Given the description of an element on the screen output the (x, y) to click on. 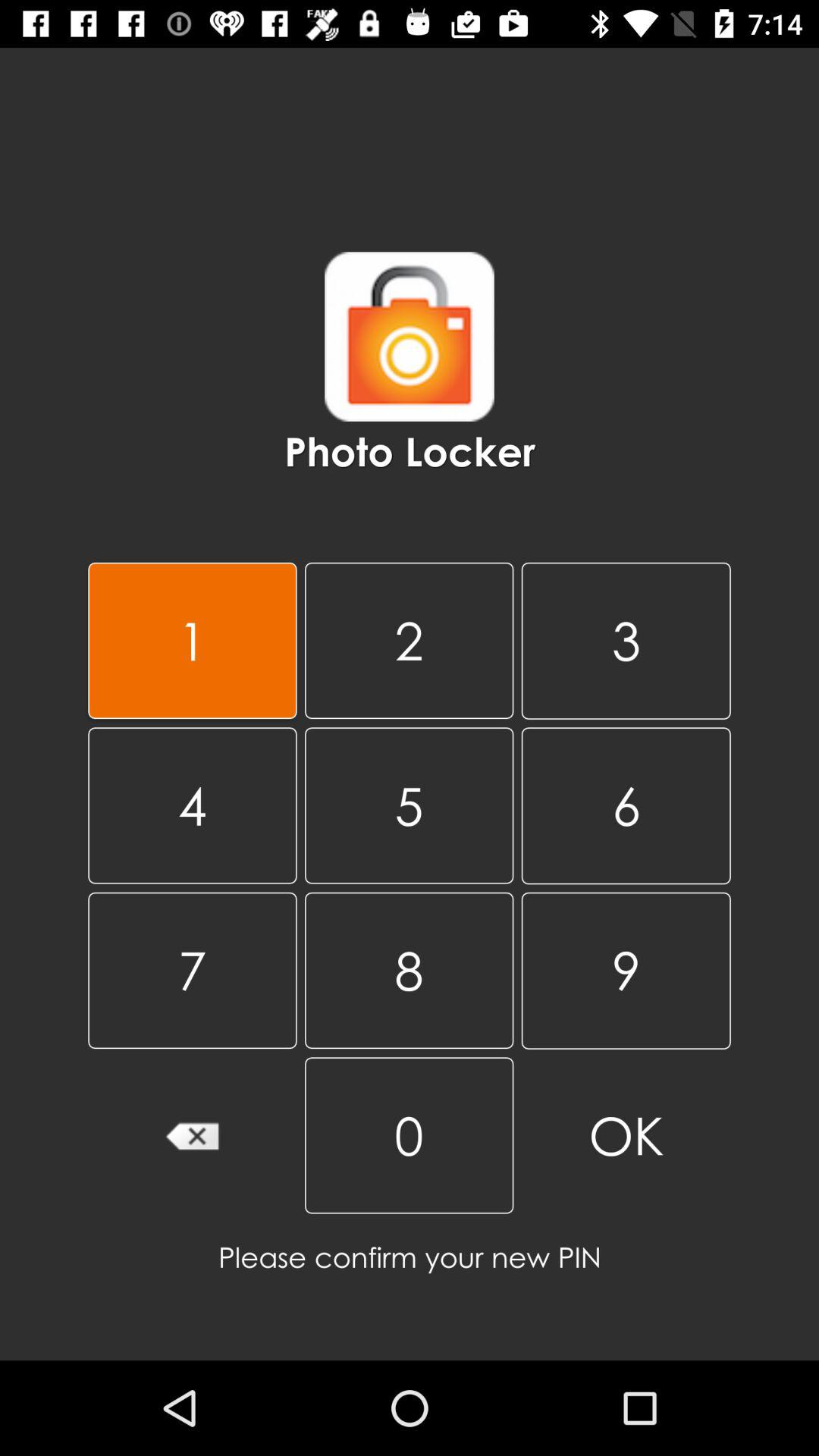
clear number (192, 1135)
